Given the description of an element on the screen output the (x, y) to click on. 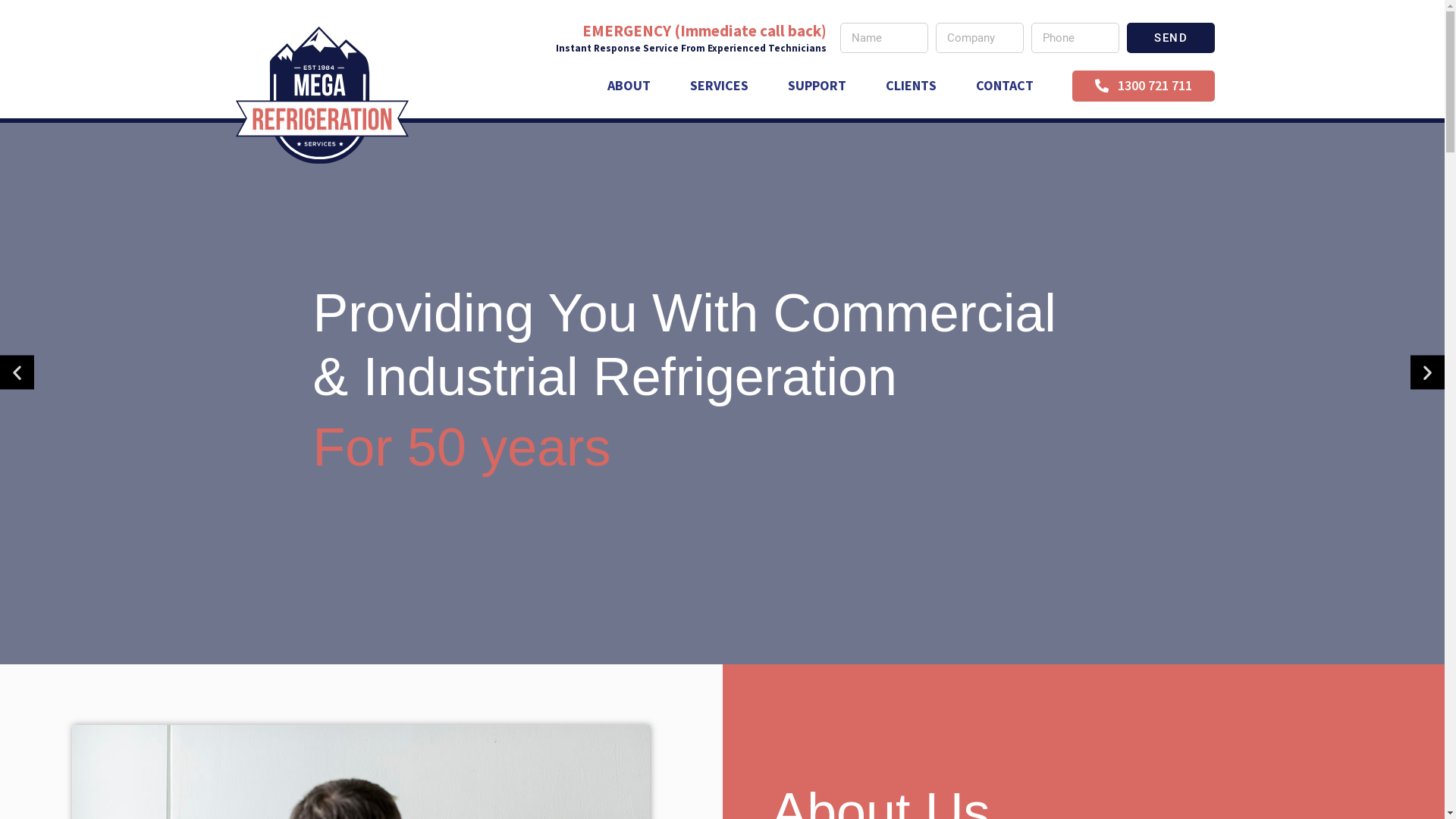
SEND Element type: text (1170, 37)
CLIENTS Element type: text (911, 85)
SUPPORT Element type: text (817, 85)
ABOUT Element type: text (628, 85)
1300 721 711 Element type: text (1143, 84)
SERVICES Element type: text (719, 85)
CONTACT Element type: text (1004, 85)
